Given the description of an element on the screen output the (x, y) to click on. 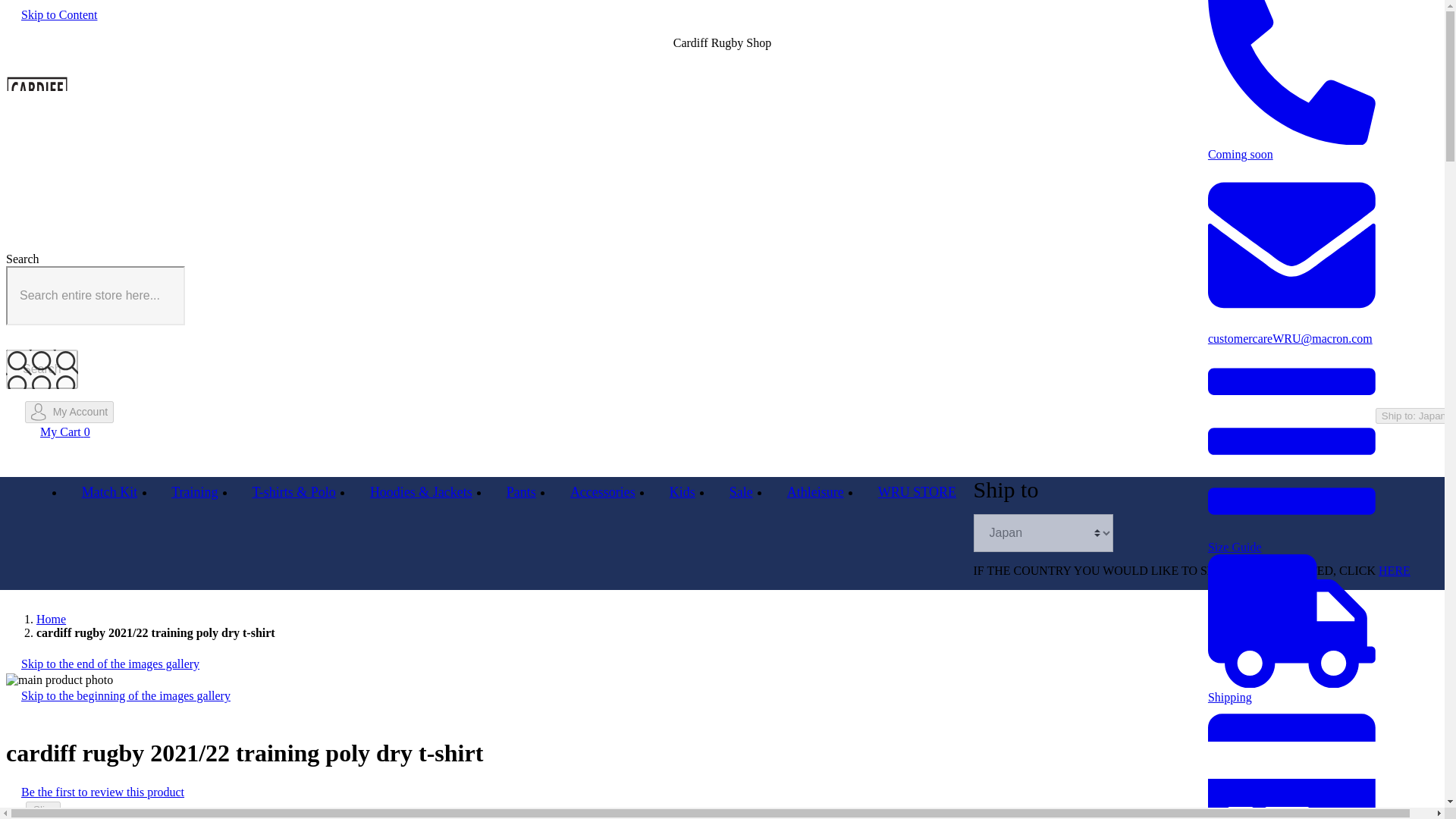
Go to Home Page (50, 618)
Skip to Content (58, 15)
Search (41, 369)
Size Guide (1291, 540)
Coming soon (1291, 147)
Shipping (1291, 690)
Ship to: Japan (1413, 415)
